Given the description of an element on the screen output the (x, y) to click on. 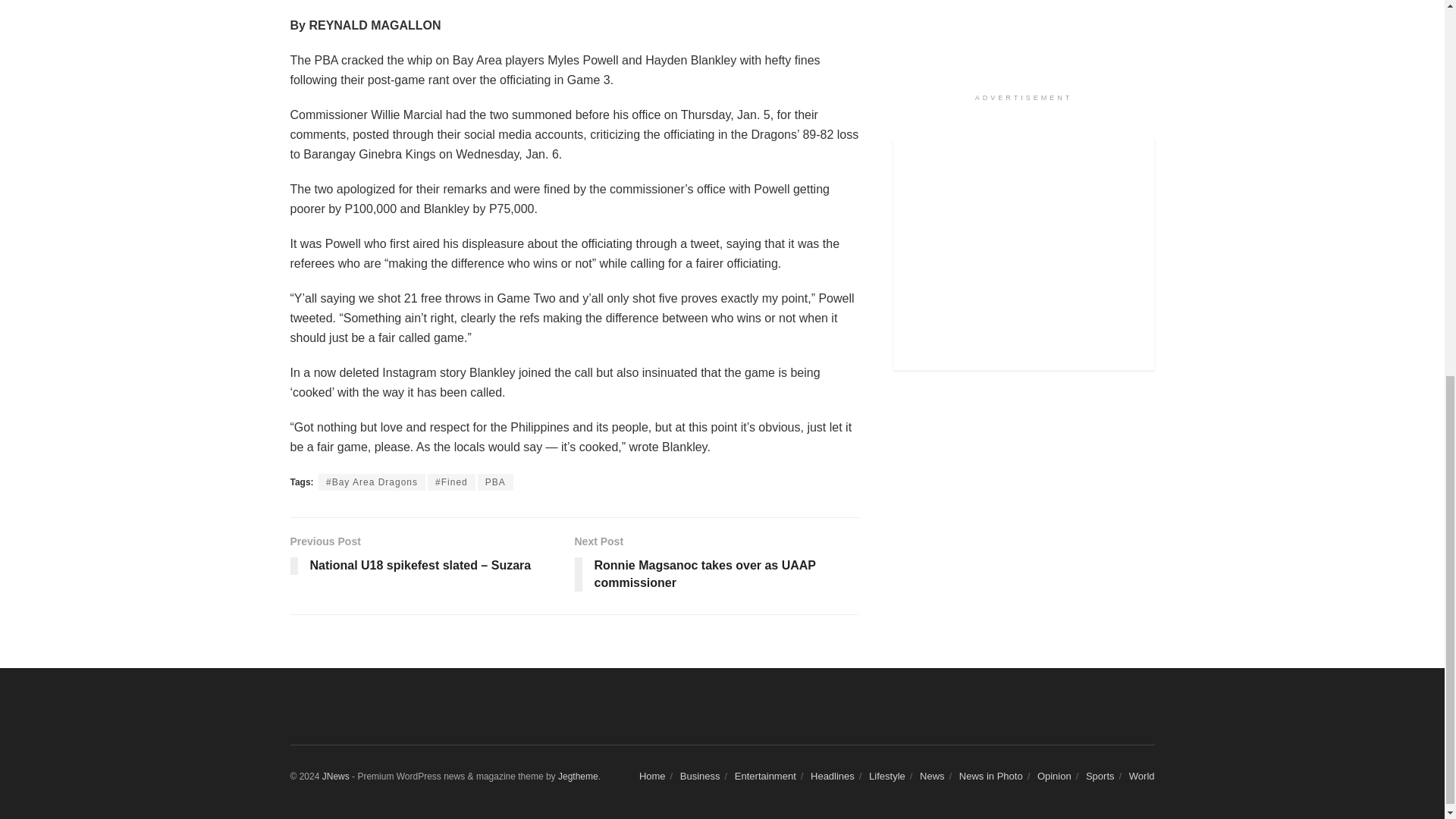
Jegtheme (577, 776)
